Given the description of an element on the screen output the (x, y) to click on. 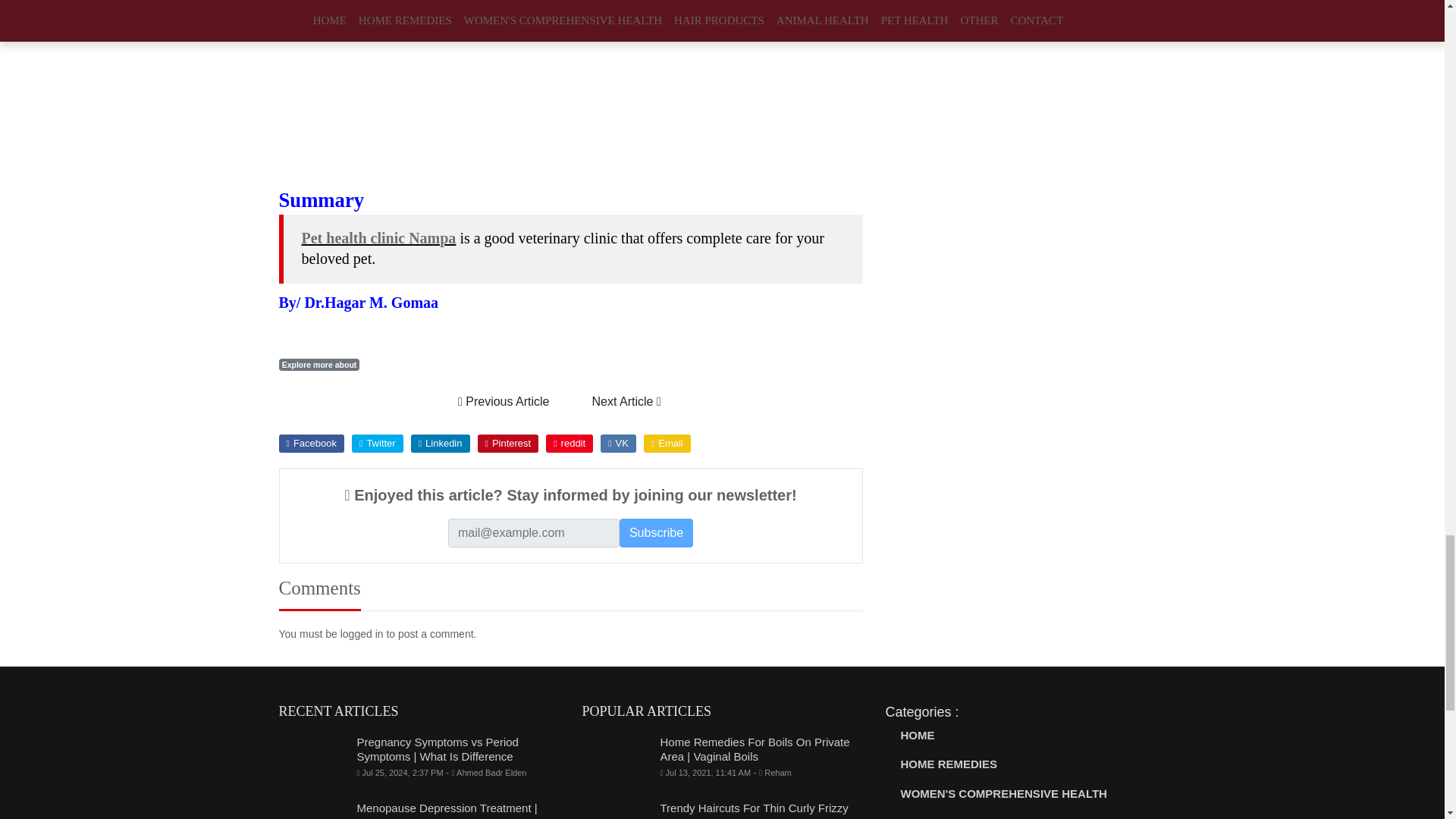
Next Article (626, 401)
Subscribe (656, 532)
via email (666, 443)
Pet health clinic Nampa (379, 238)
Previous Article (503, 401)
Facebook (311, 443)
